Given the description of an element on the screen output the (x, y) to click on. 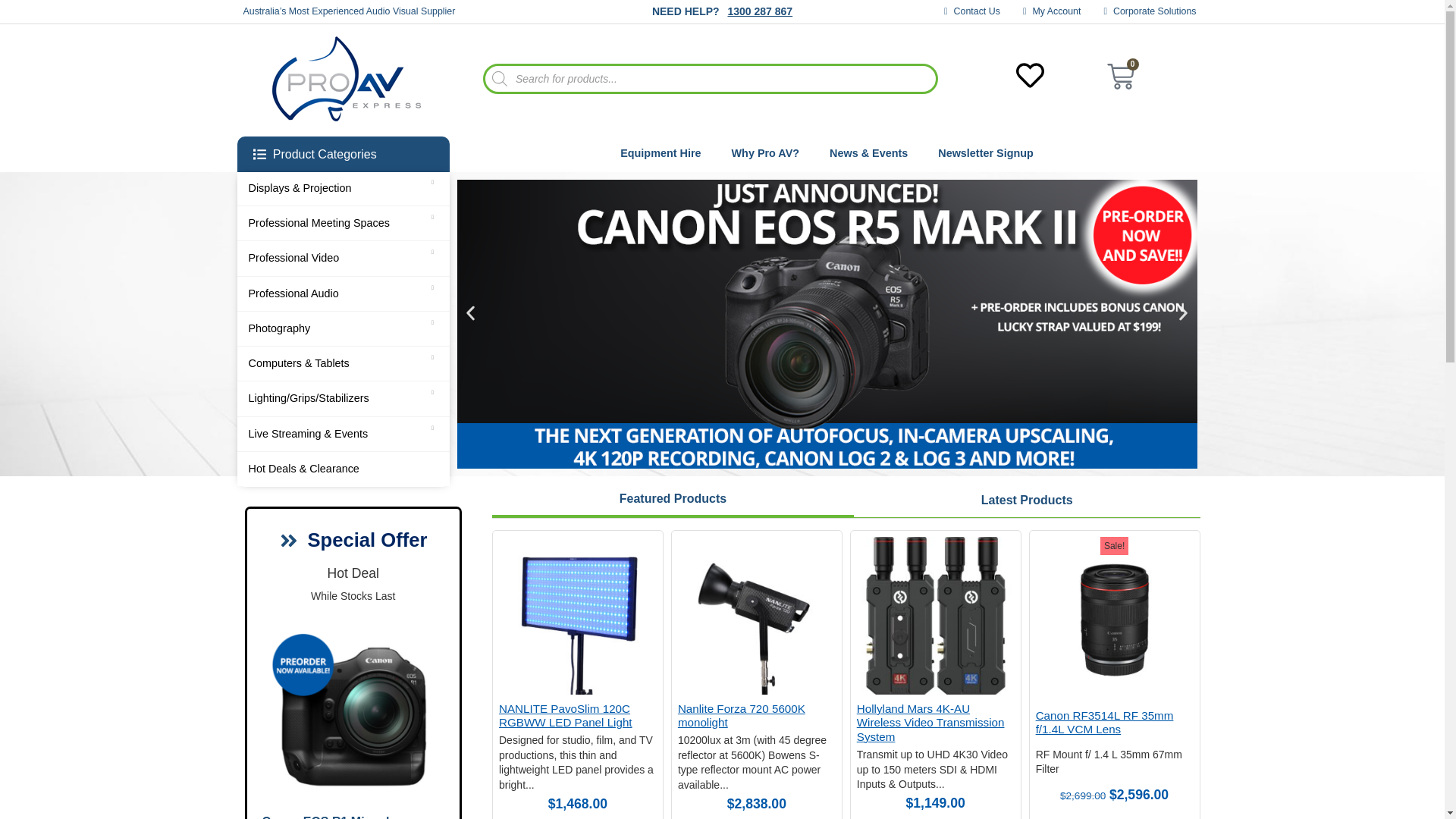
My Account (1052, 10)
Newsletter Signup (985, 153)
Equipment Hire (660, 153)
1300 287 867 (759, 10)
Contact Us (971, 10)
Why Pro AV? (765, 153)
0 (1120, 78)
Corporate Solutions (1149, 10)
